Given the description of an element on the screen output the (x, y) to click on. 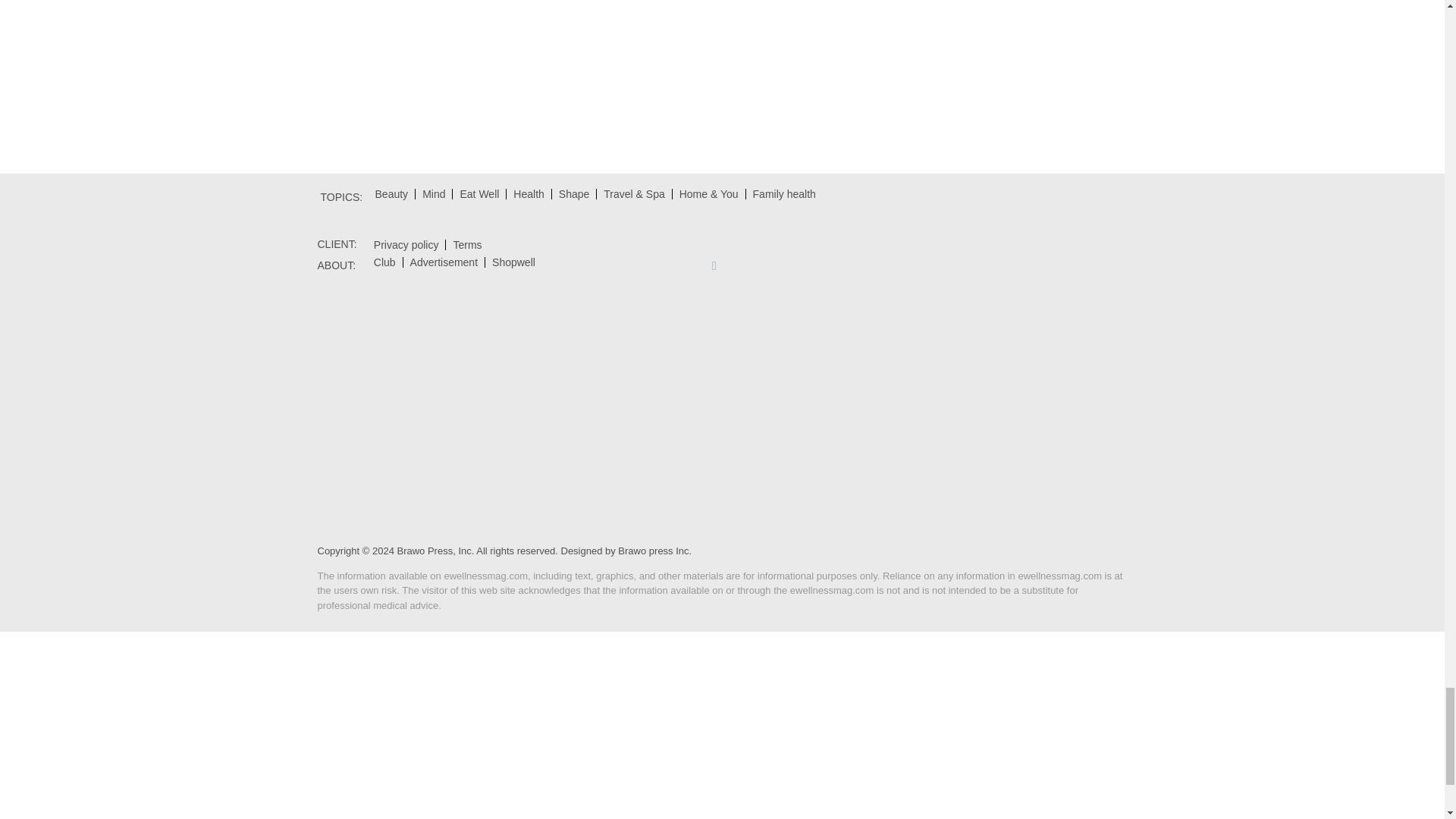
Mind (432, 194)
Beauty (391, 194)
uroda (391, 194)
Facebook (713, 265)
